Given the description of an element on the screen output the (x, y) to click on. 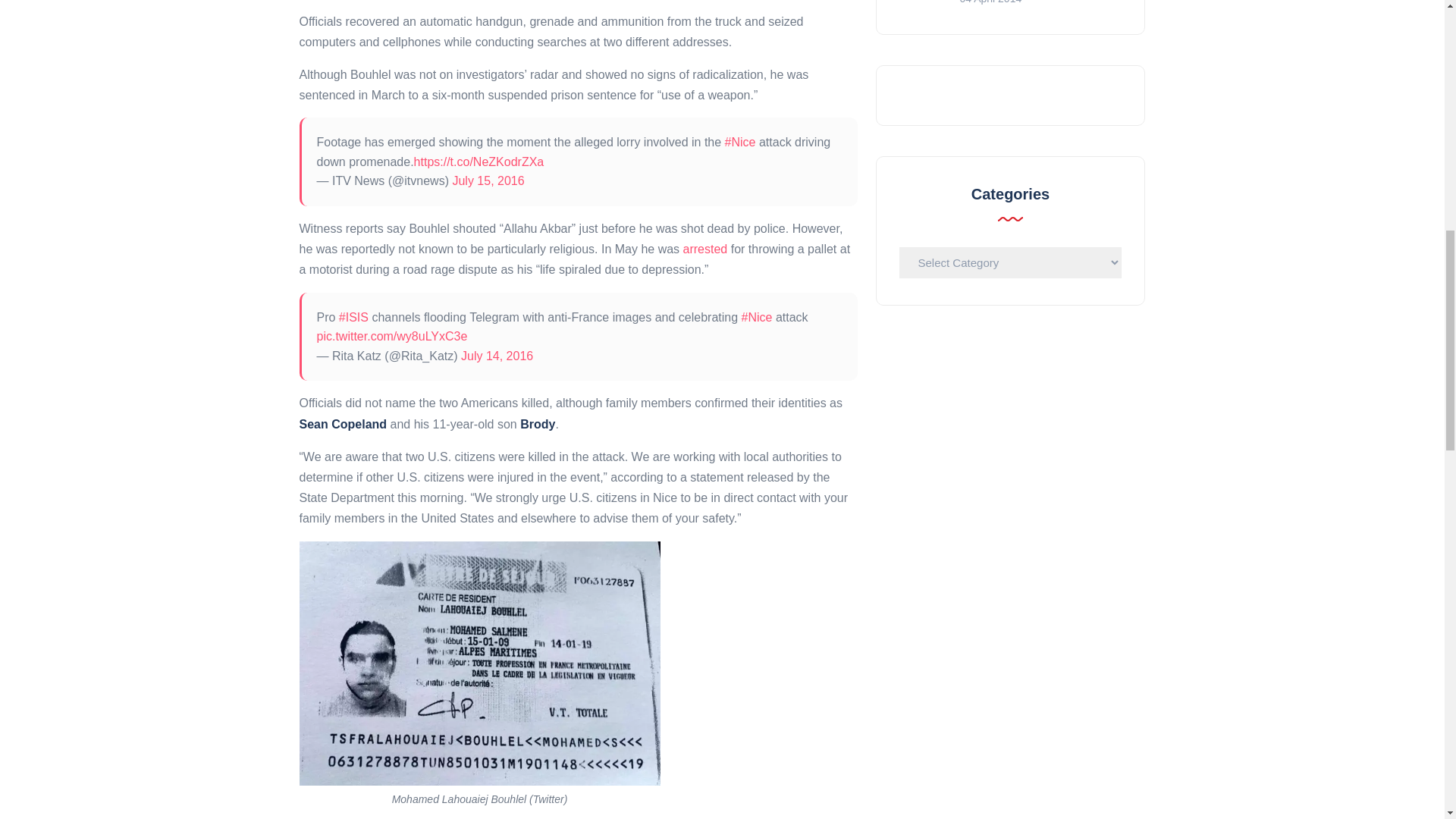
July 14, 2016 (496, 355)
arrested (705, 248)
July 15, 2016 (487, 180)
